Given the description of an element on the screen output the (x, y) to click on. 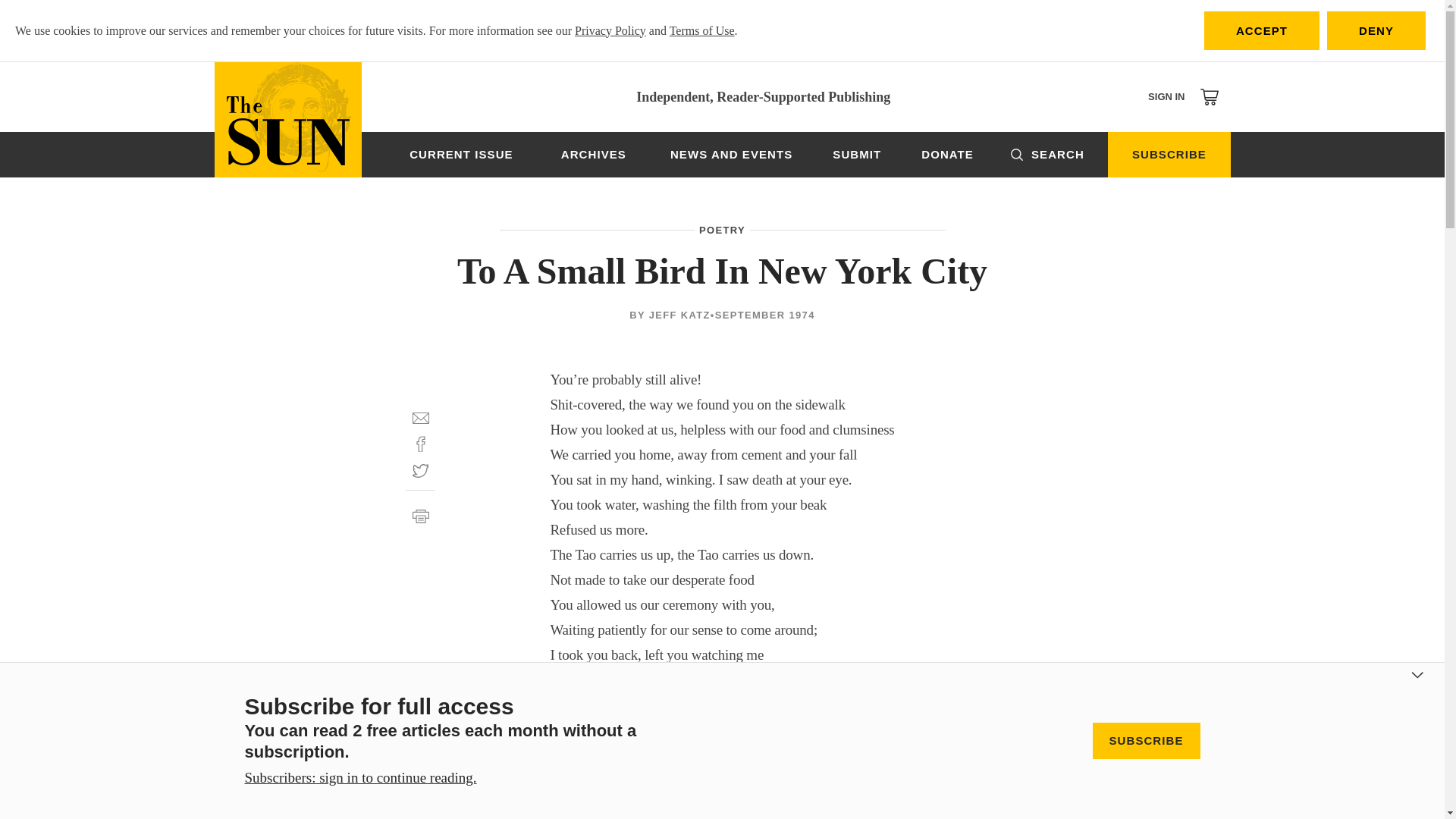
ACCEPT (1261, 30)
CURRENT ISSUE (461, 154)
DENY (1375, 30)
Privacy Policy (610, 30)
SIGN IN (1166, 96)
ARCHIVES (593, 154)
Terms of Use (702, 30)
